Given the description of an element on the screen output the (x, y) to click on. 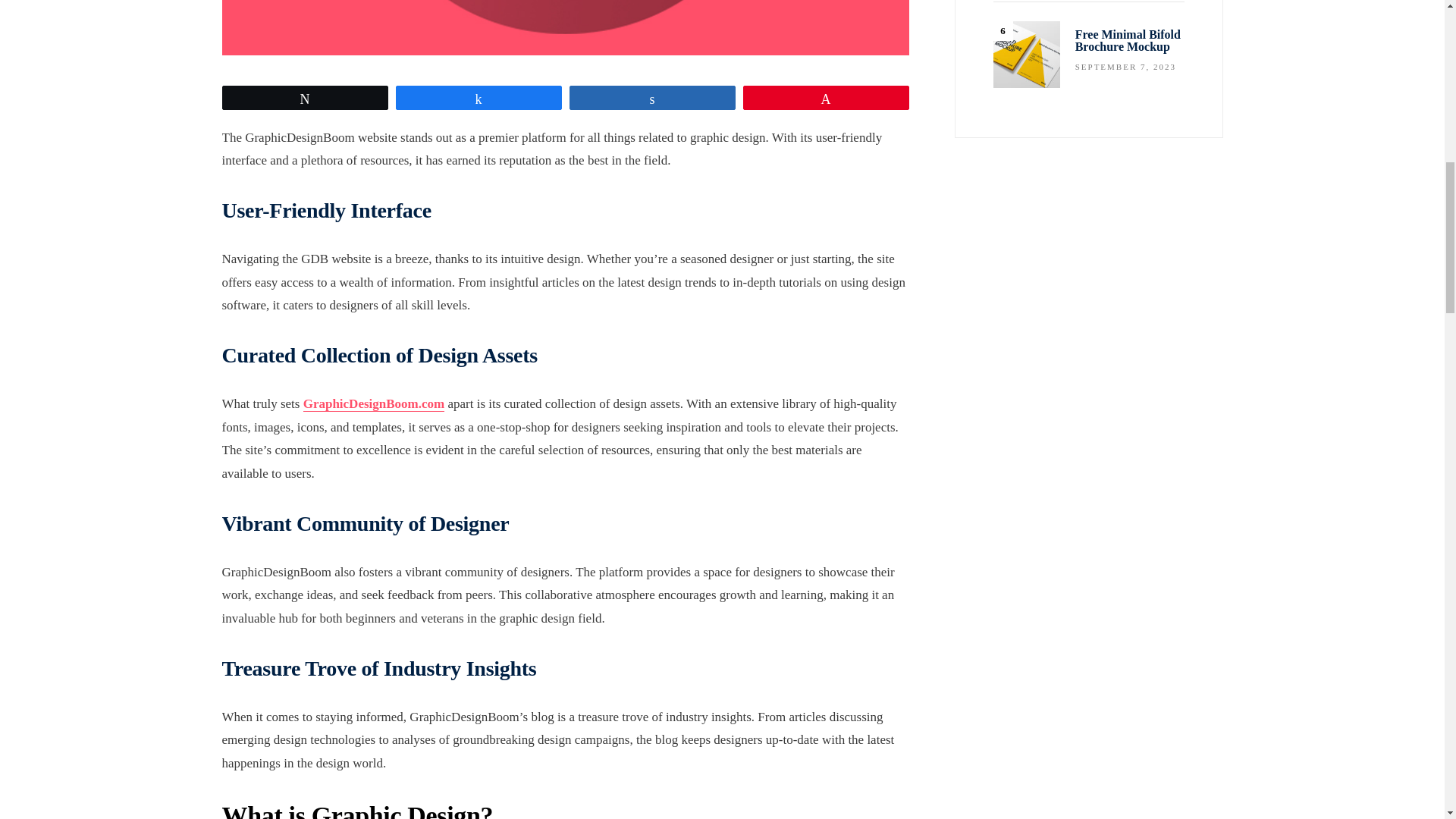
GraphicDesignBoom.com (373, 403)
Free Minimal Bifold Brochure Mockup (1025, 54)
